Given the description of an element on the screen output the (x, y) to click on. 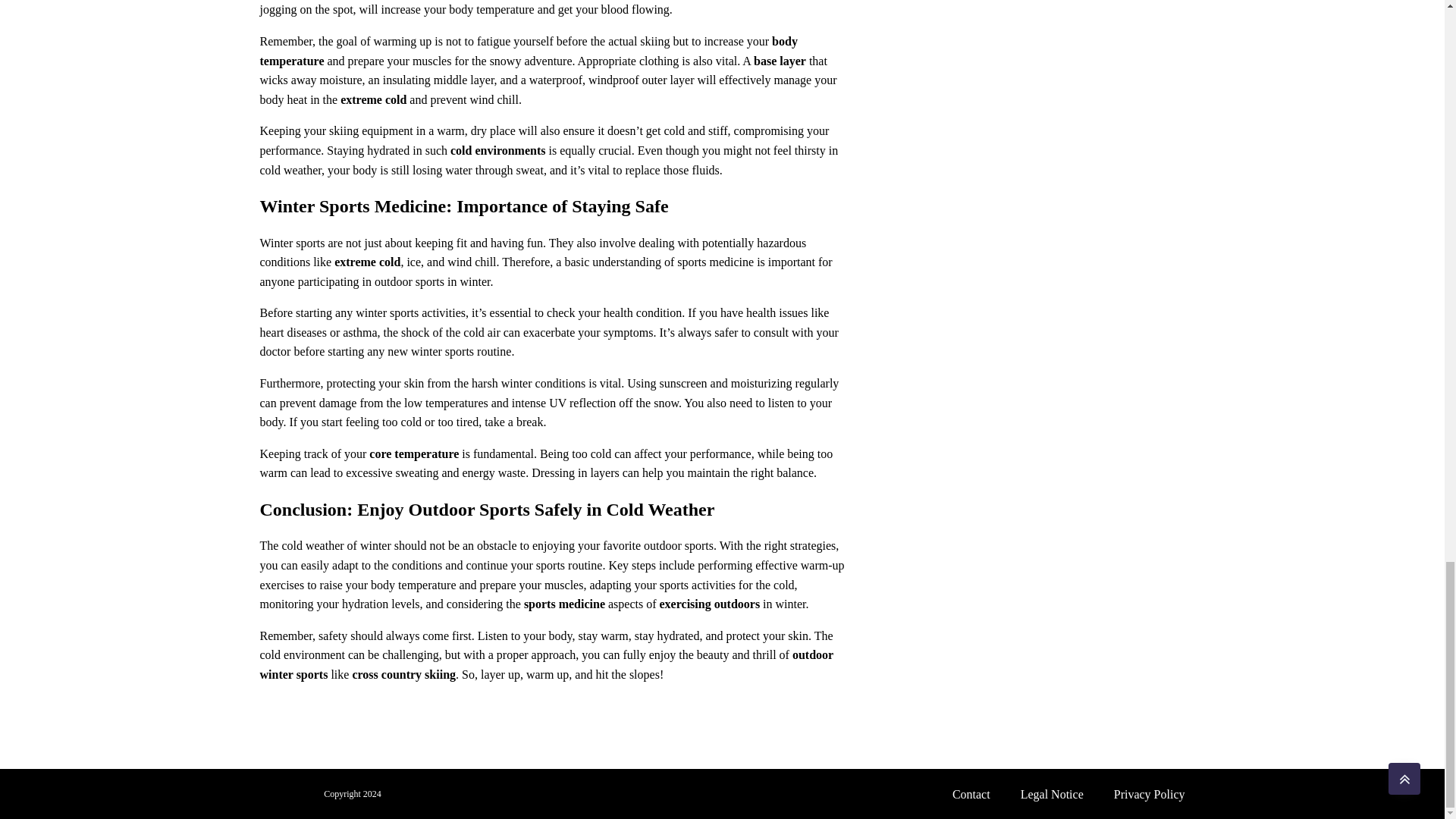
Legal Notice (1052, 794)
Privacy Policy (1149, 794)
Contact (971, 794)
